Given the description of an element on the screen output the (x, y) to click on. 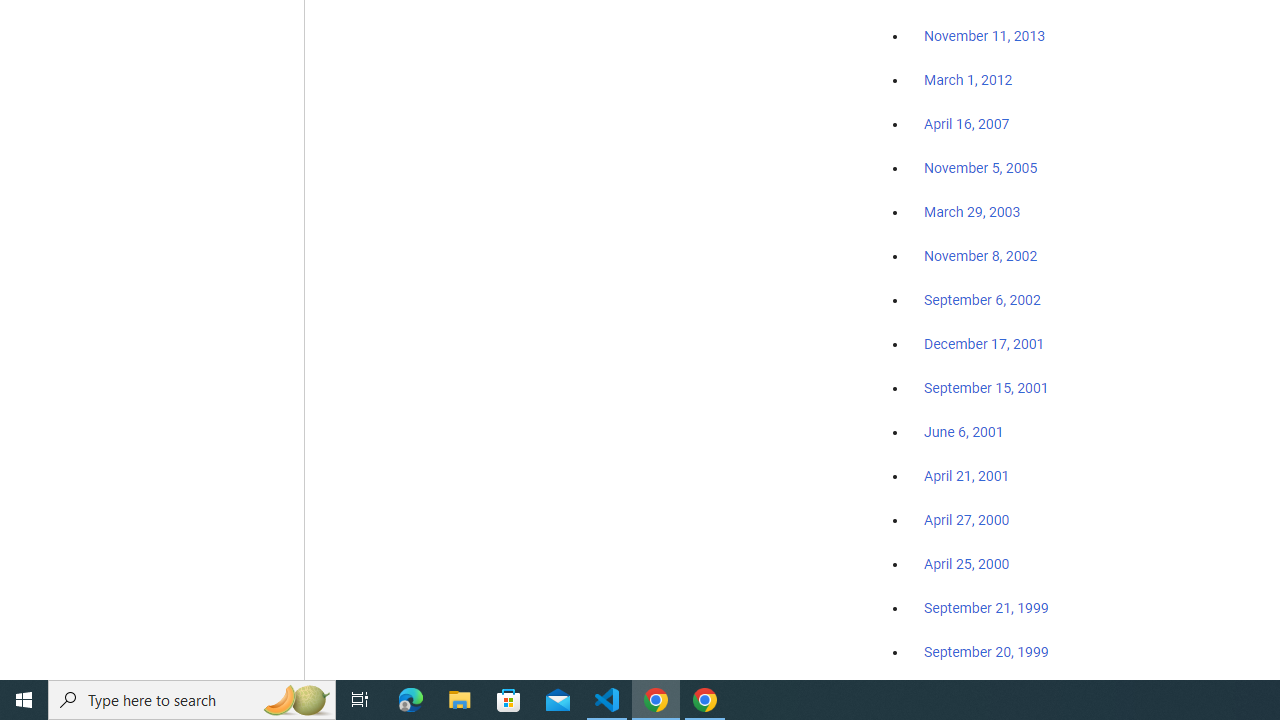
September 20, 1999 (986, 651)
March 1, 2012 (968, 81)
April 25, 2000 (966, 564)
June 6, 2001 (963, 431)
September 6, 2002 (982, 299)
April 21, 2001 (966, 476)
September 15, 2001 (986, 387)
November 8, 2002 (981, 255)
November 5, 2005 (981, 168)
November 11, 2013 (984, 37)
December 17, 2001 (984, 343)
April 16, 2007 (966, 124)
September 21, 1999 (986, 608)
March 29, 2003 (972, 212)
April 27, 2000 (966, 520)
